Given the description of an element on the screen output the (x, y) to click on. 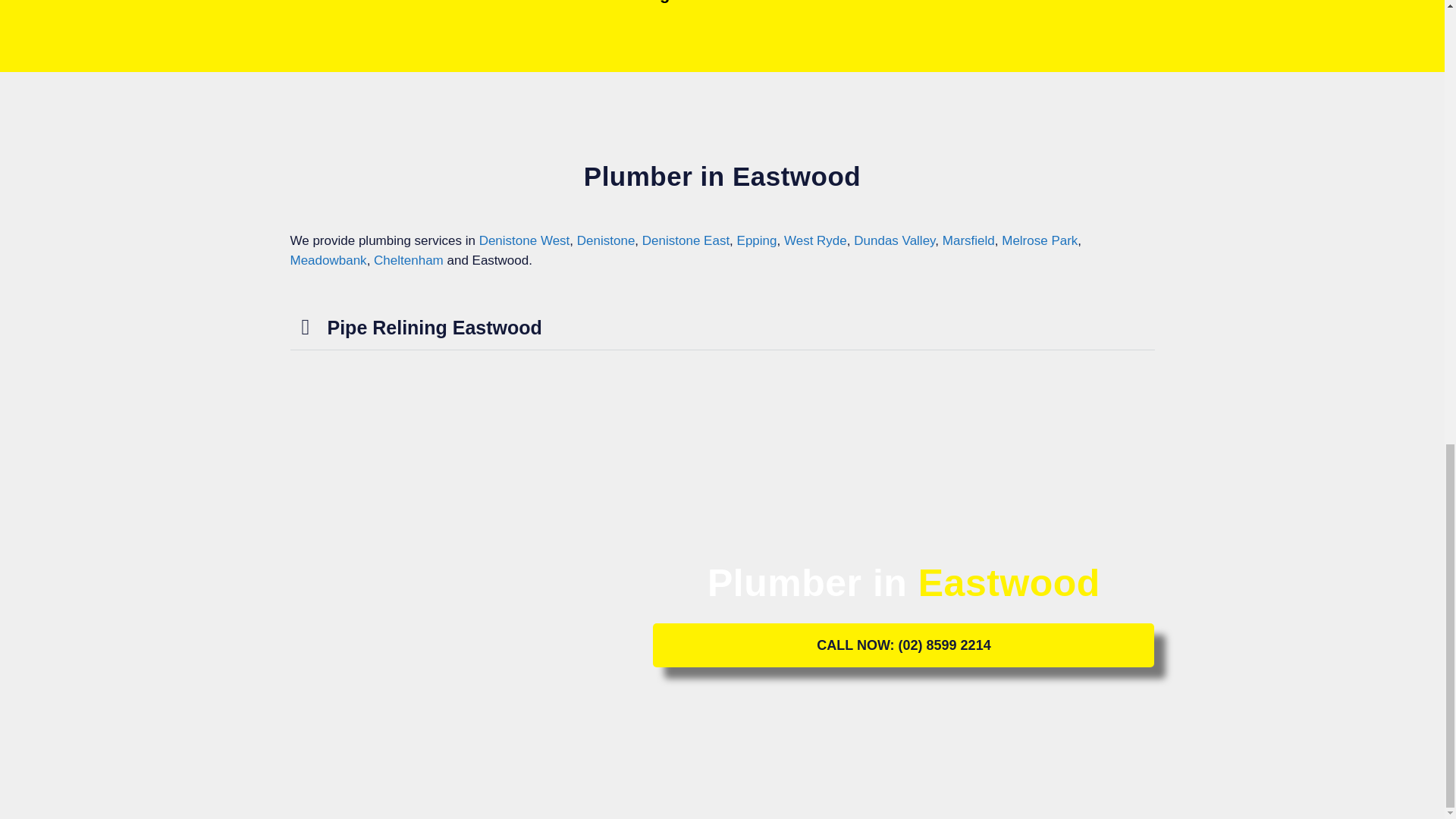
Cheltenham (409, 260)
Denistone West (524, 240)
Melrose Park (1039, 240)
Denistone East (685, 240)
Denistone (605, 240)
West Ryde (815, 240)
Dundas Valley (893, 240)
Marsfield (968, 240)
Epping (756, 240)
Pipe Relining Eastwood (434, 327)
